Given the description of an element on the screen output the (x, y) to click on. 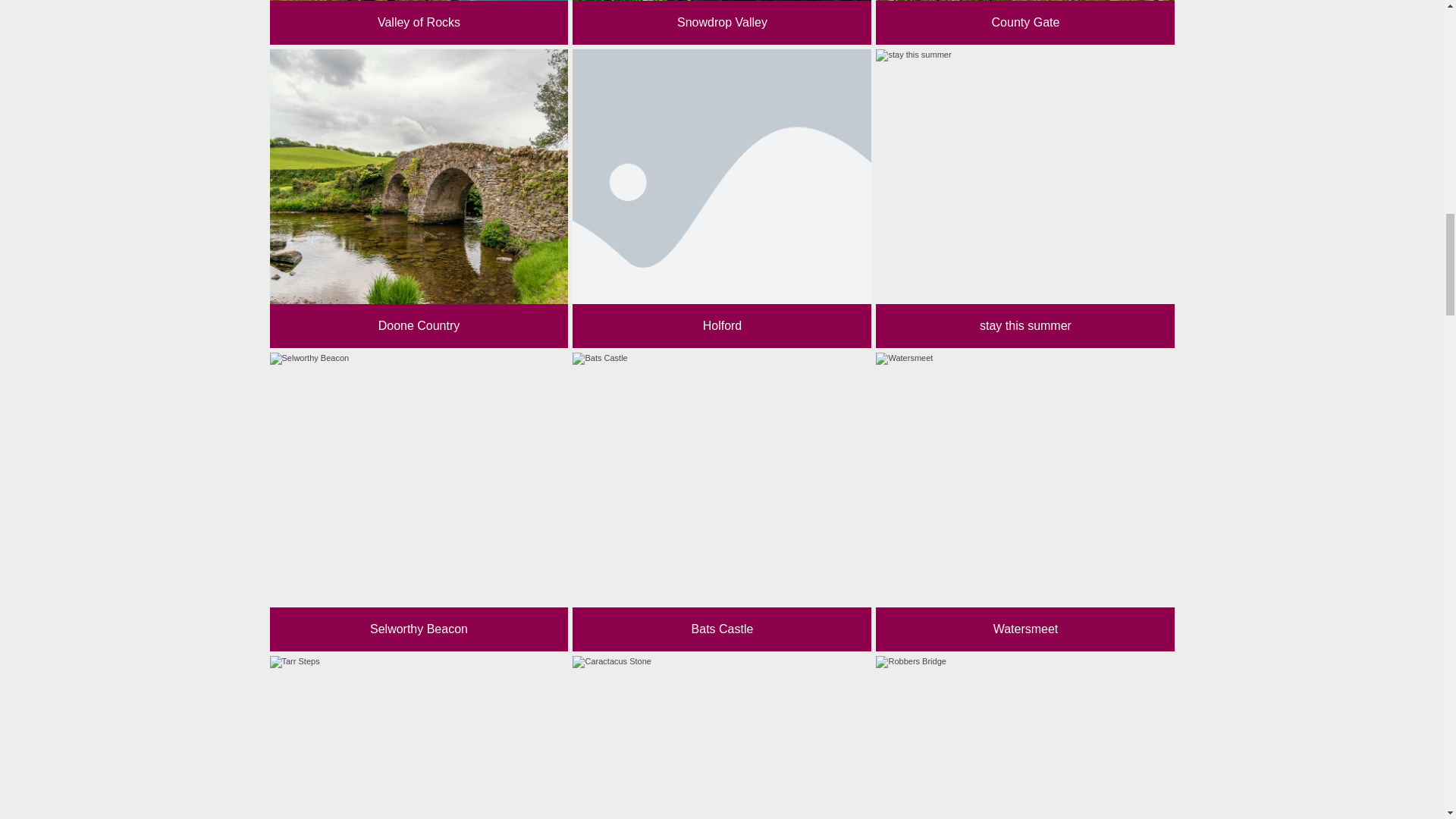
Selworthy Beacon (419, 501)
Valley of Rocks (419, 22)
Watersmeet (1025, 501)
Doone Country (419, 198)
Snowdrop Valley (721, 22)
Caractacus Stone (721, 737)
Robbers Bridge (1025, 737)
stay this summer (1025, 198)
Holford (721, 198)
Tarr Steps (419, 737)
County Gate (1025, 22)
Bats Castle (721, 501)
